Given the description of an element on the screen output the (x, y) to click on. 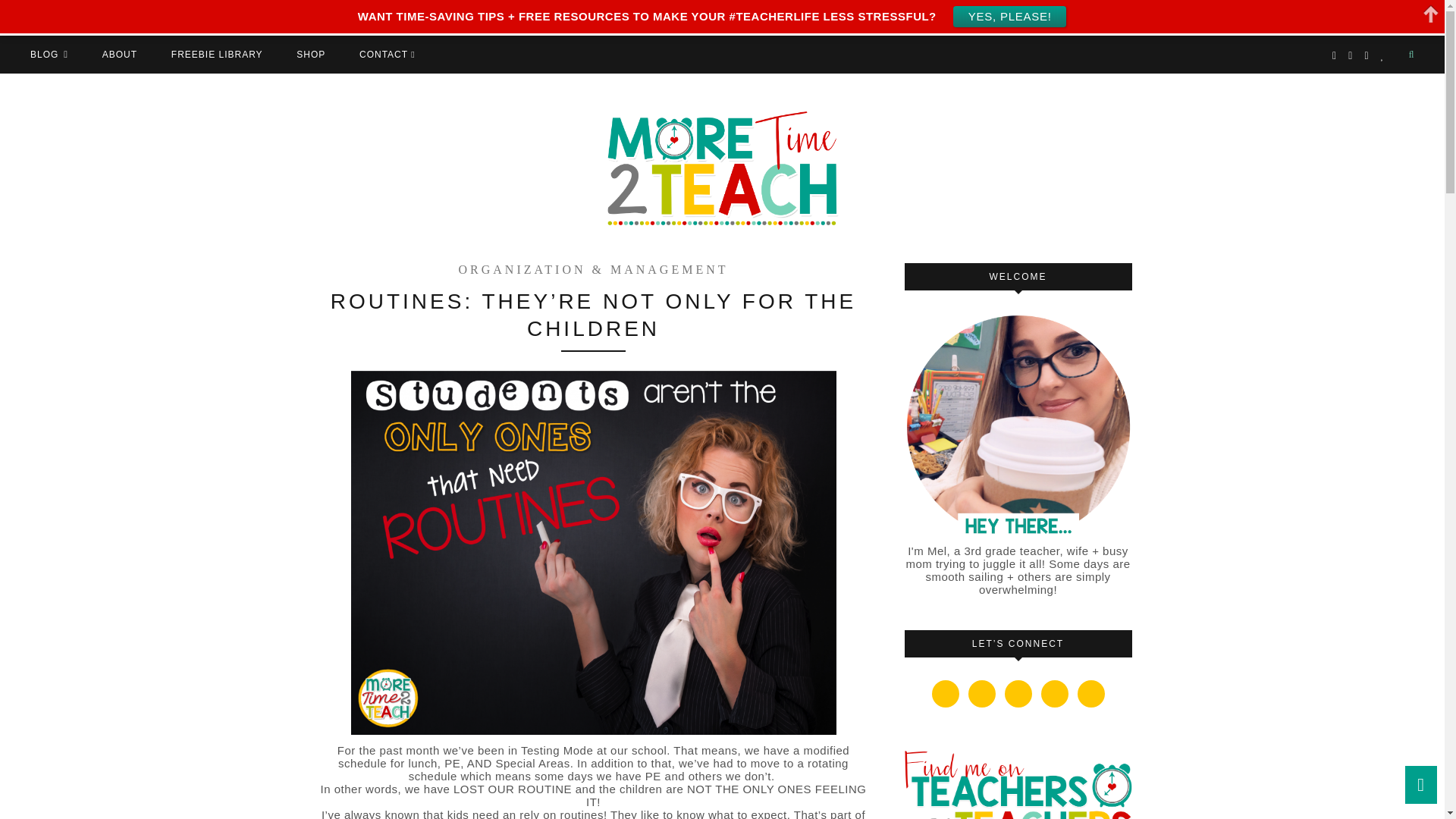
ABOUT (118, 53)
FREEBIE LIBRARY (217, 53)
CONTACT (386, 53)
BLOG (49, 53)
